Given the description of an element on the screen output the (x, y) to click on. 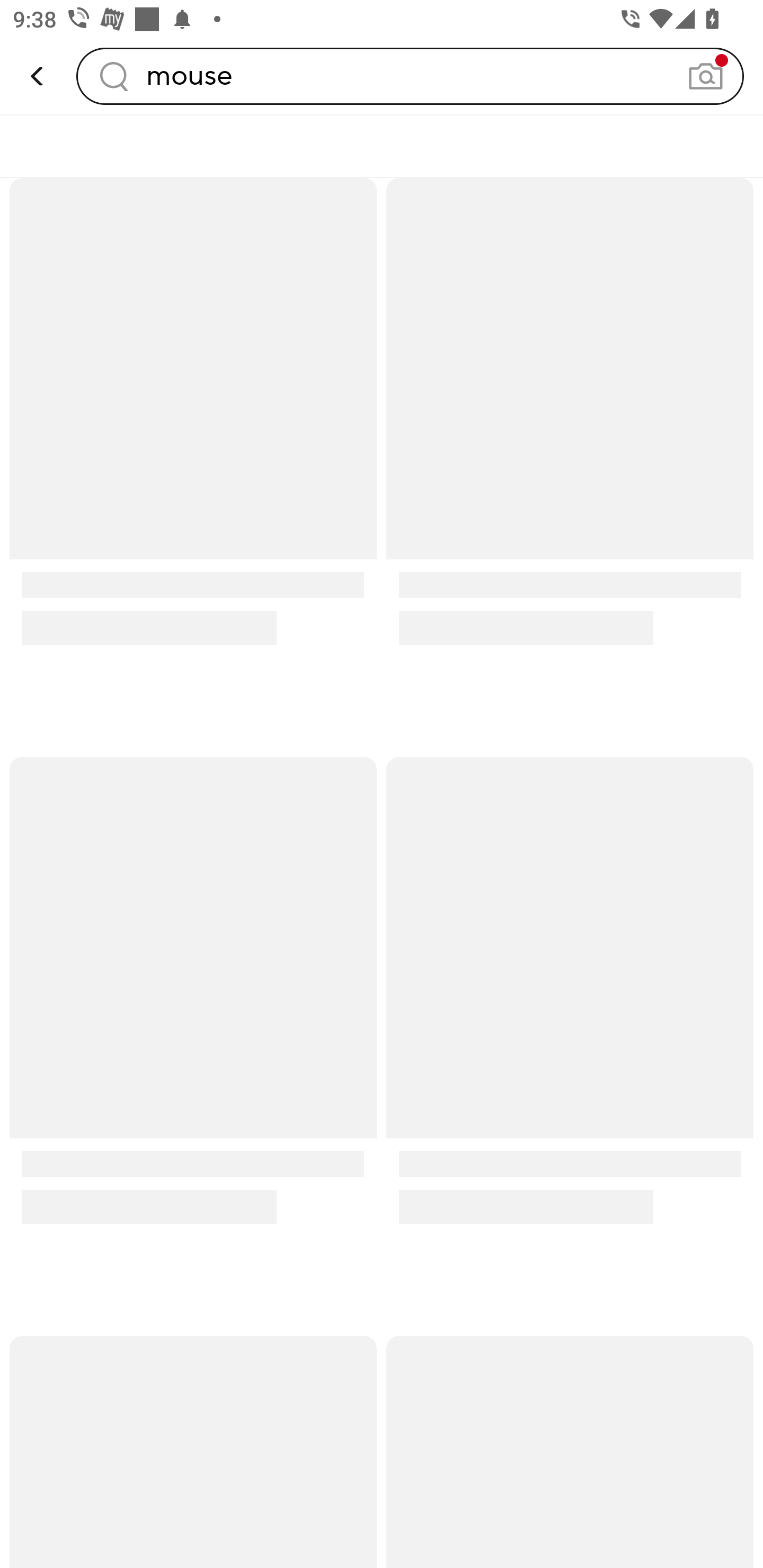
back (38, 75)
mouse Search query (409, 76)
mouse Search query (409, 76)
